Given the description of an element on the screen output the (x, y) to click on. 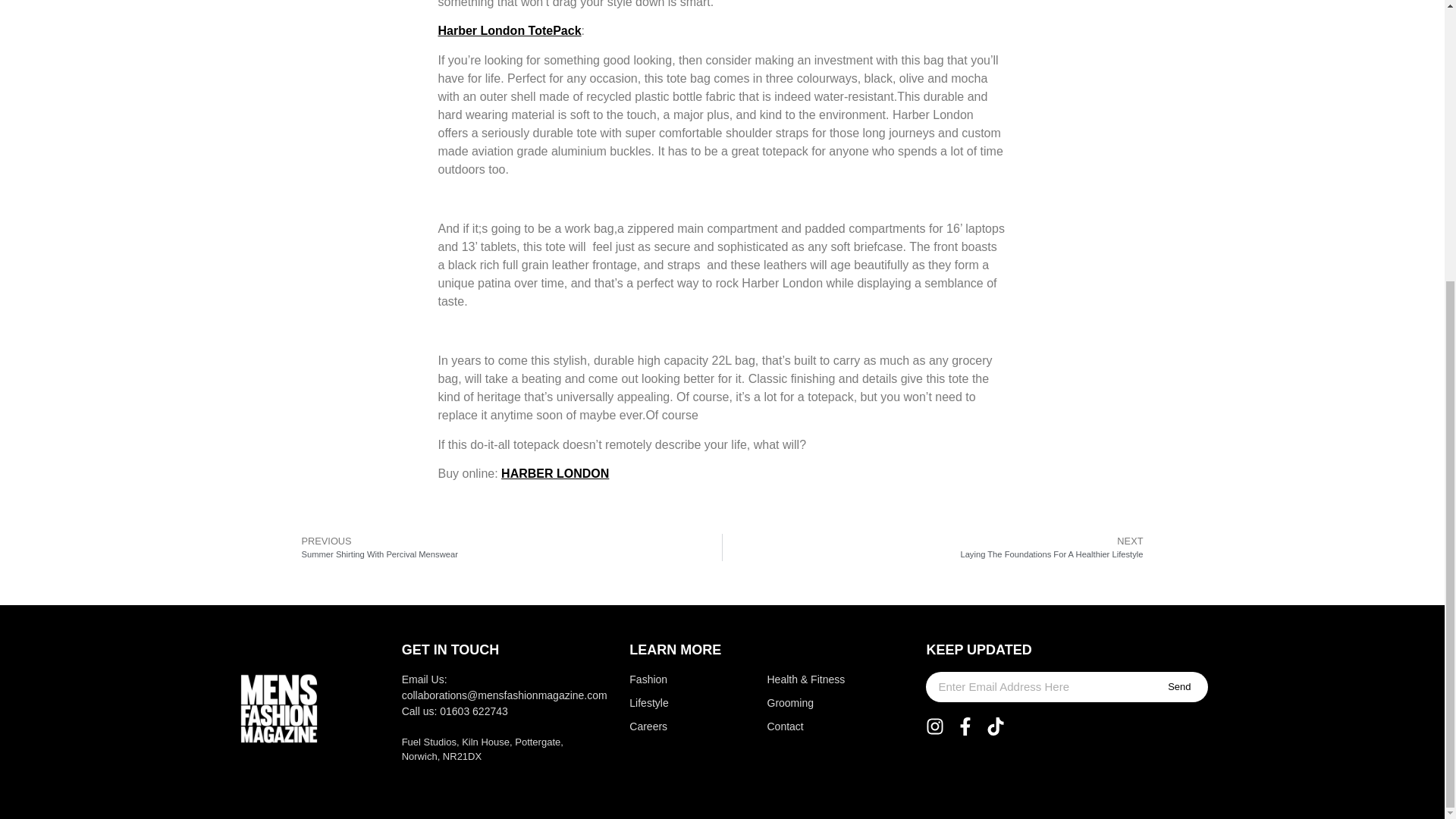
Harber London TotePack (505, 547)
Grooming (509, 30)
HARBER LONDON (807, 703)
Send (554, 472)
Fashion (1179, 685)
Contact (667, 678)
Lifestyle (807, 725)
